Given the description of an element on the screen output the (x, y) to click on. 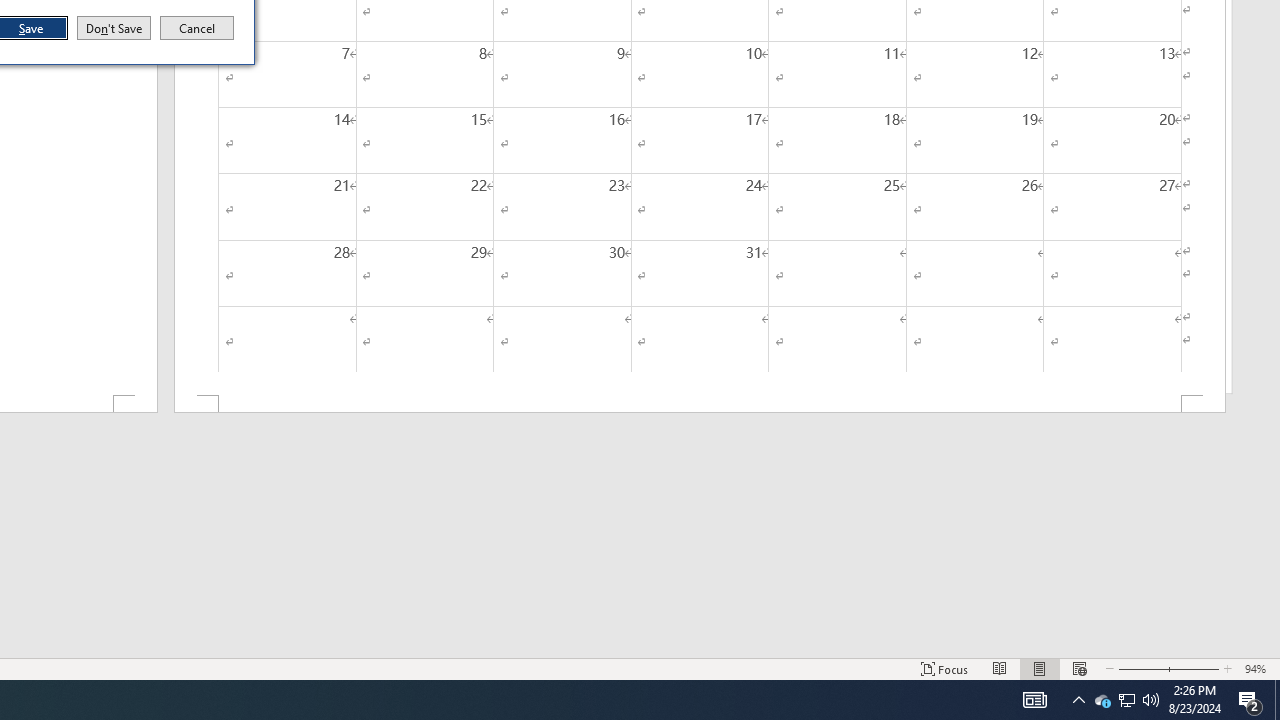
Don't Save (113, 27)
Cancel (197, 27)
